Given the description of an element on the screen output the (x, y) to click on. 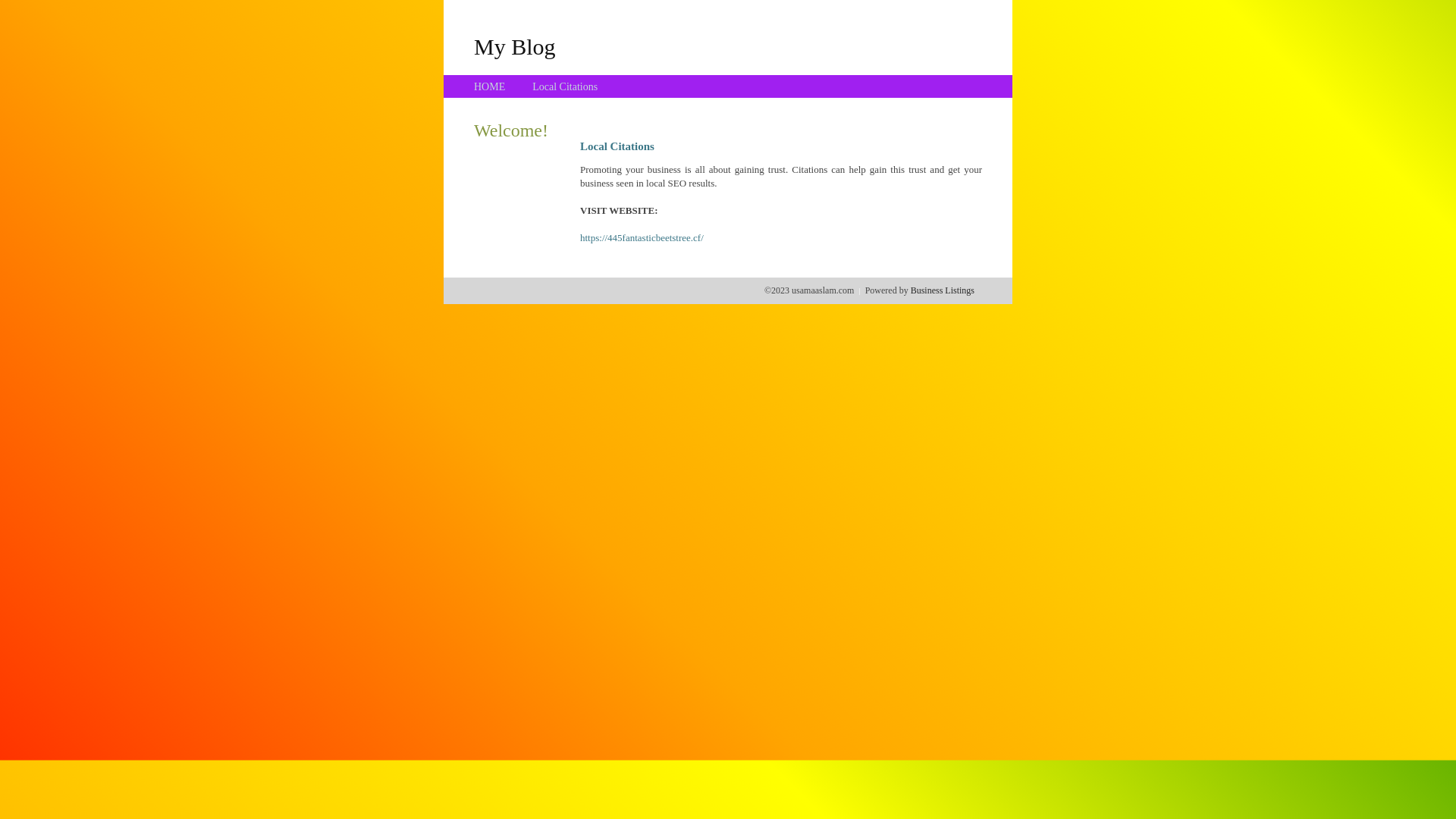
Business Listings Element type: text (942, 290)
HOME Element type: text (489, 86)
Local Citations Element type: text (564, 86)
My Blog Element type: text (514, 46)
https://445fantasticbeetstree.cf/ Element type: text (641, 237)
